Given the description of an element on the screen output the (x, y) to click on. 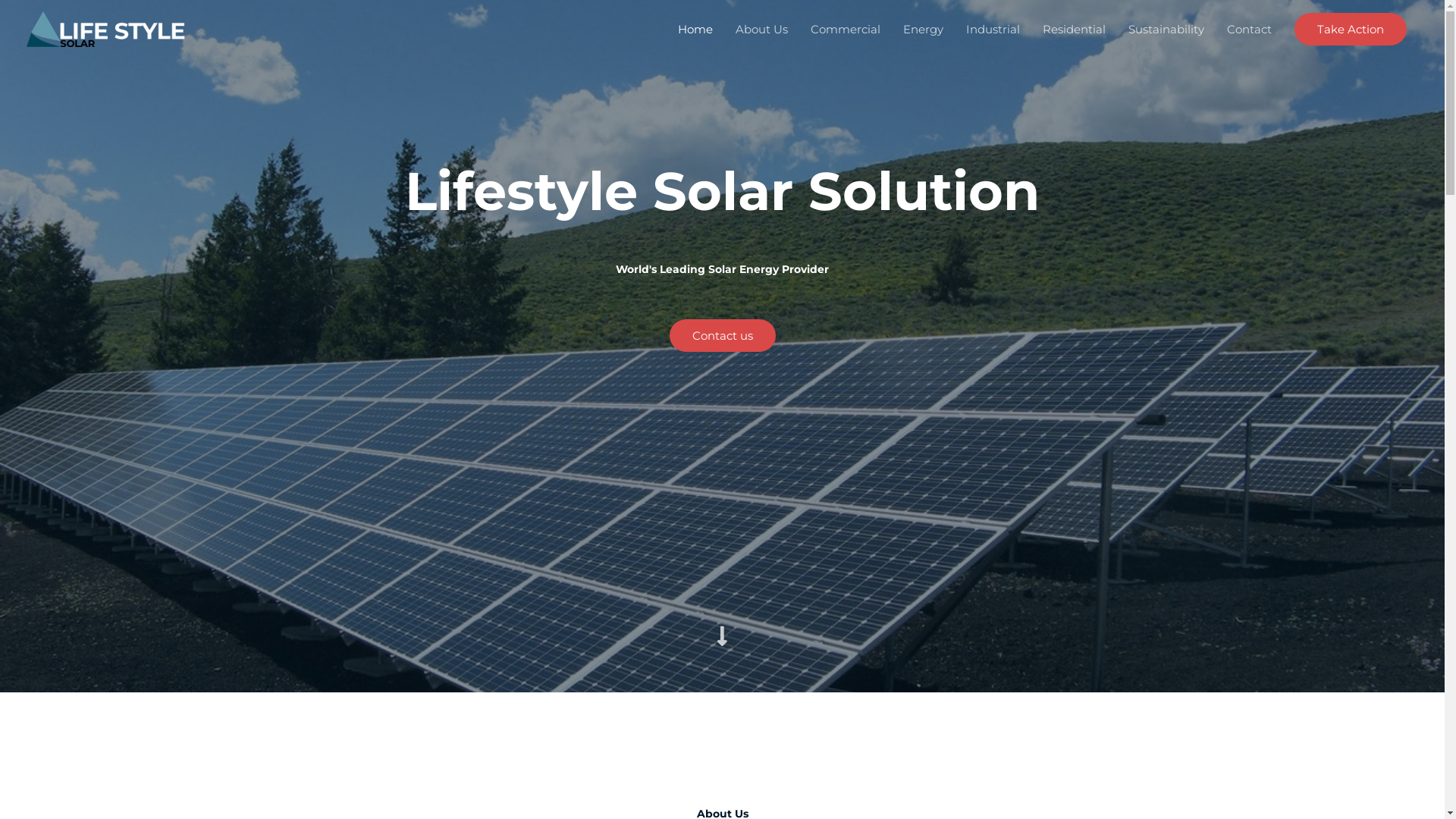
Sustainability Element type: text (1166, 28)
Commercial Element type: text (845, 28)
Take Action Element type: text (1350, 28)
Contact us Element type: text (721, 335)
Residential Element type: text (1074, 28)
Energy Element type: text (922, 28)
Contact Element type: text (1249, 28)
Take Action Element type: text (1350, 28)
Industrial Element type: text (992, 28)
Home Element type: text (695, 28)
About Us Element type: text (761, 28)
